Given the description of an element on the screen output the (x, y) to click on. 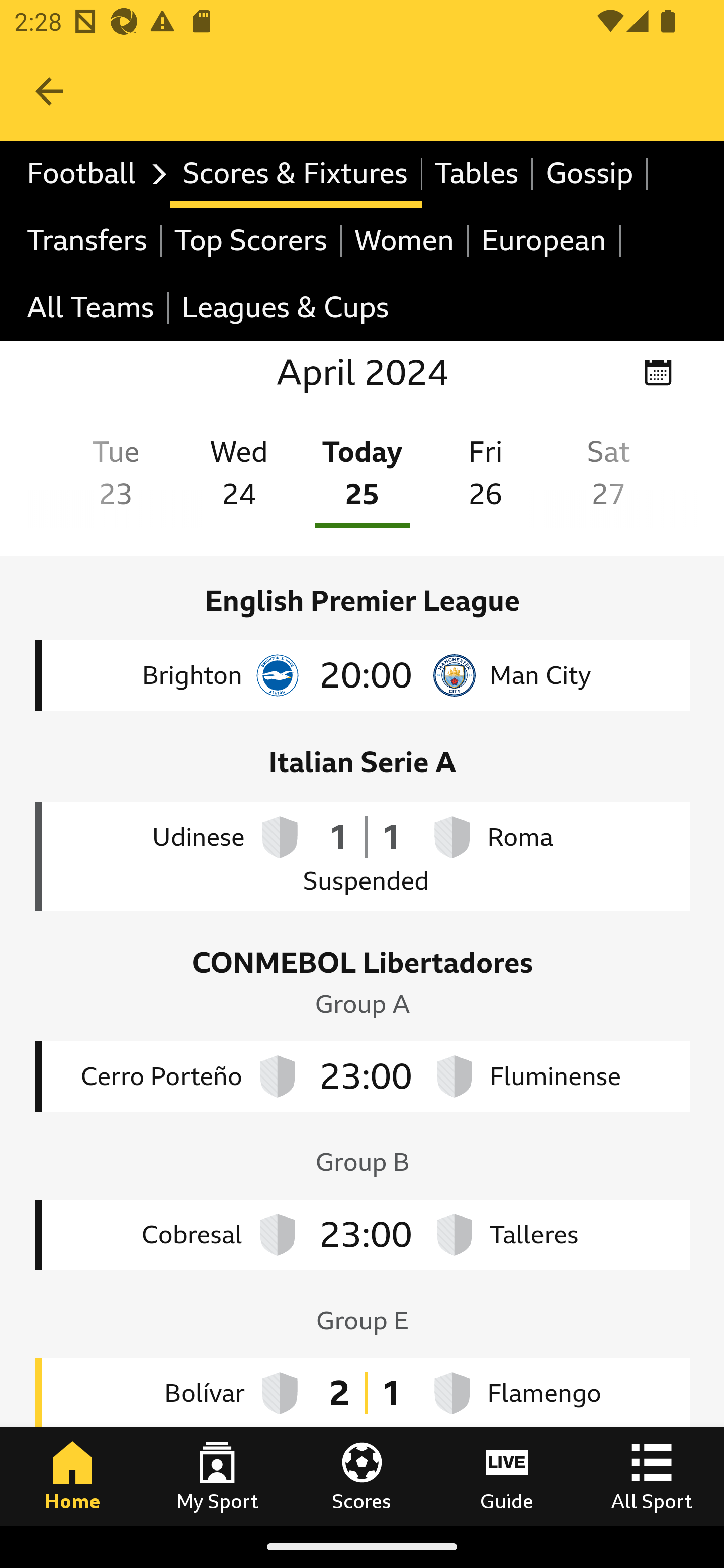
Navigate up (49, 91)
Football (91, 173)
Scores & Fixtures (295, 173)
Tables (477, 173)
Gossip (590, 173)
Transfers (88, 240)
Top Scorers (251, 240)
Women (405, 240)
European (544, 240)
All Teams (91, 308)
Leagues & Cups (284, 308)
Tue 23rd April 2024 Tue 23 (114, 476)
Wed 24th April 2024 Wed 24 (237, 476)
Today 25th April 2024 selected Today 25 (361, 476)
Fri 26th April 2024 Fri 26 (484, 476)
Sat 27th April 2024 Sat 27 (607, 476)
My Sport (216, 1475)
Scores (361, 1475)
Guide (506, 1475)
All Sport (651, 1475)
